Given the description of an element on the screen output the (x, y) to click on. 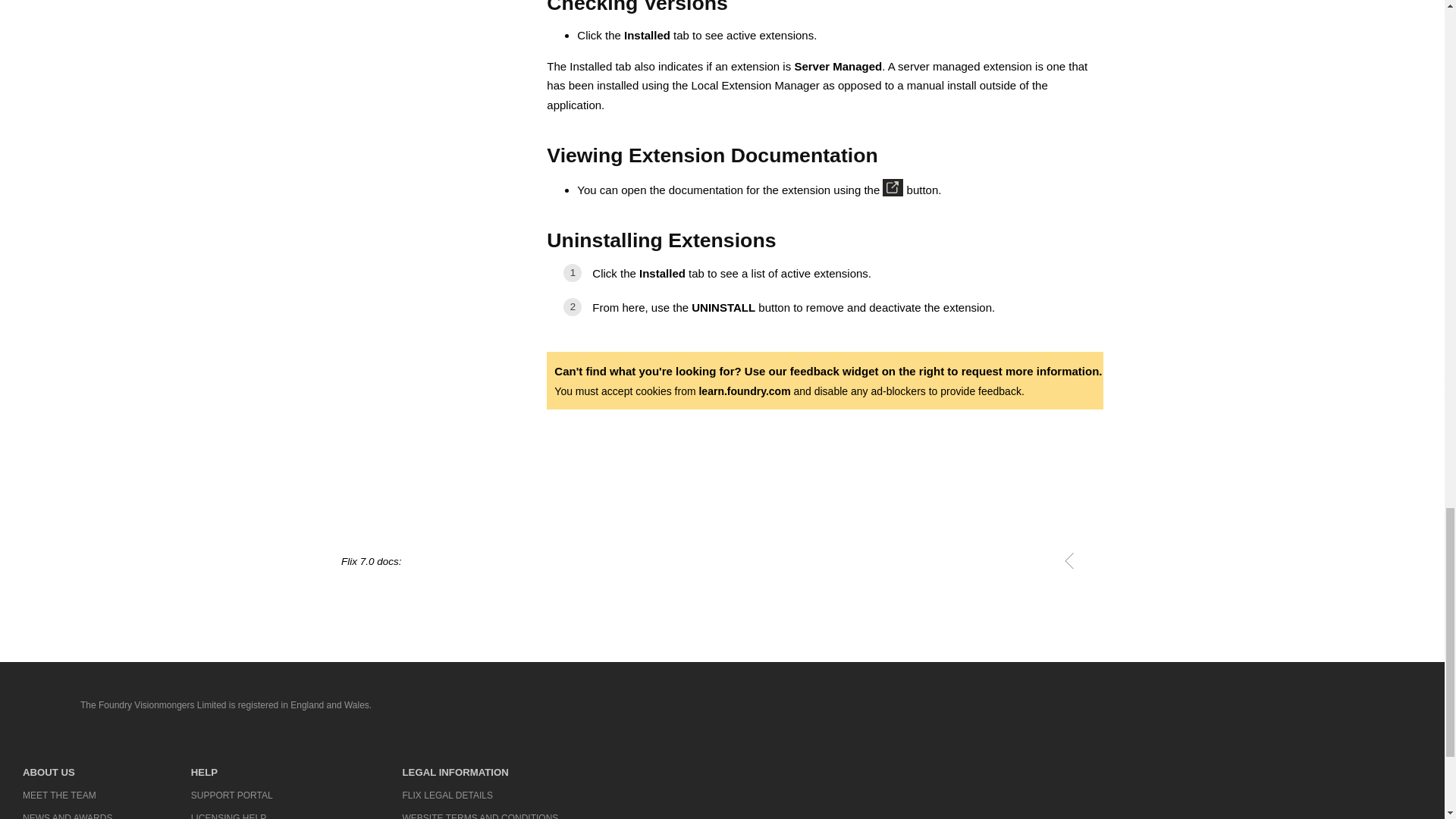
MEET THE TEAM (67, 794)
LICENSING HELP (256, 812)
YouTube (1292, 707)
Navigate next (1091, 560)
Twitter (1243, 707)
Print (1046, 560)
Facebook (1200, 707)
Home (36, 705)
SUPPORT PORTAL (256, 794)
Vimeo (1343, 707)
Navigate previous (1069, 560)
NEWS AND AWARDS (67, 812)
